Given the description of an element on the screen output the (x, y) to click on. 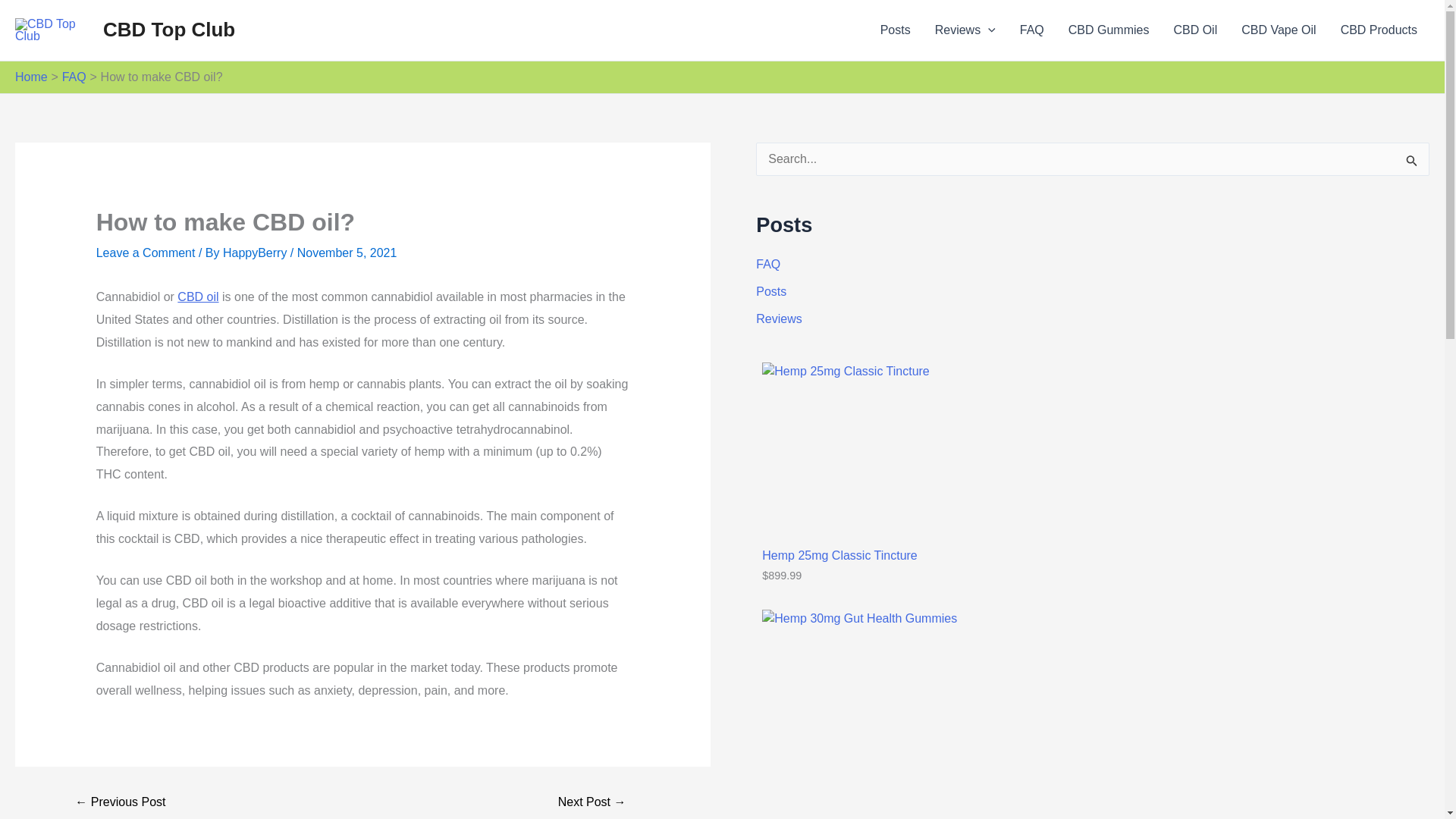
FAQ (73, 76)
CBD Oil (1194, 30)
Reviews (965, 30)
CBD Top Club (168, 29)
View all posts by HappyBerry (255, 252)
What does CBD stand for? (119, 802)
Posts (895, 30)
CBD Products (1378, 30)
HappyBerry (255, 252)
CBD Gummies (1109, 30)
